Given the description of an element on the screen output the (x, y) to click on. 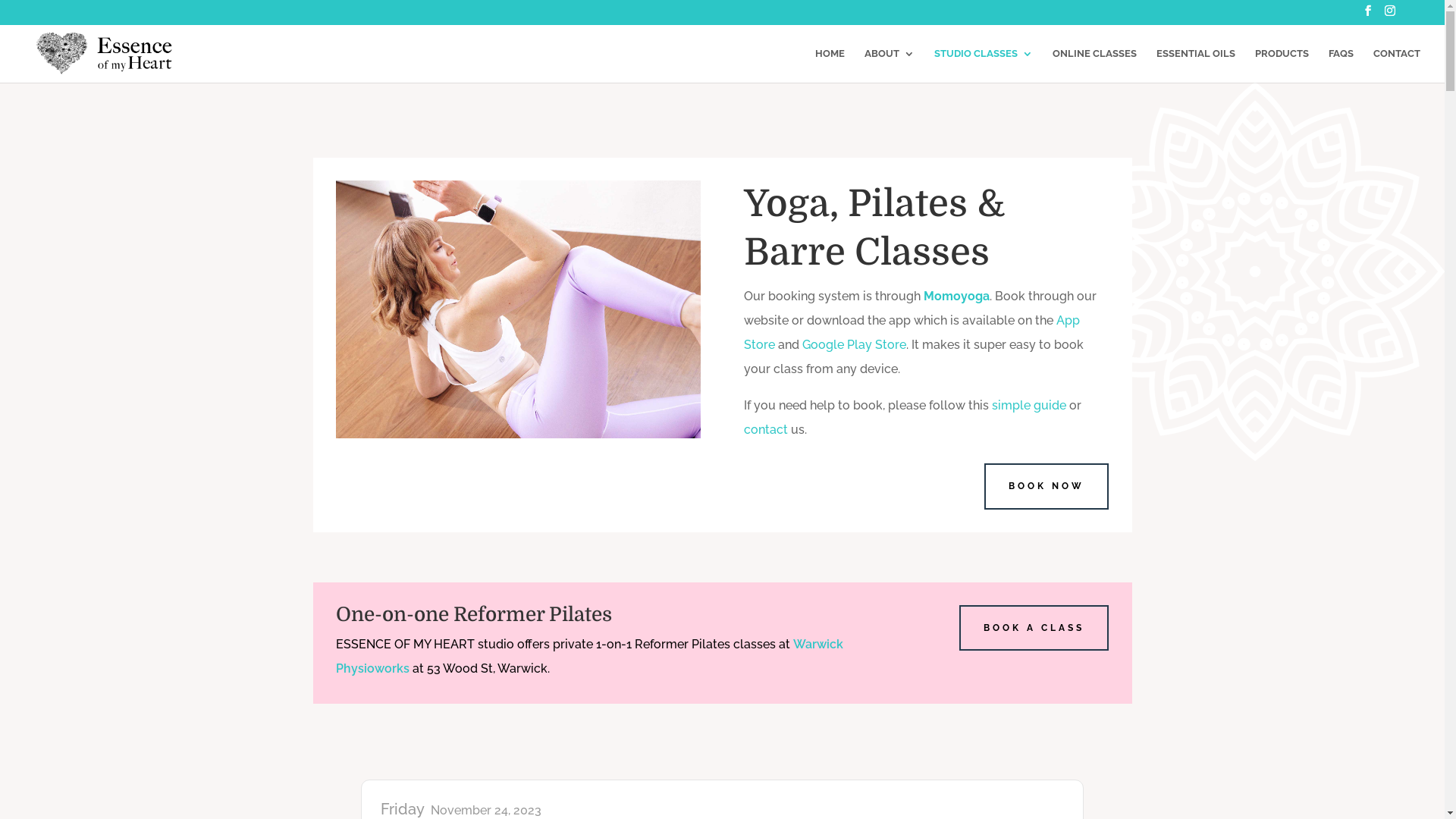
contact Element type: text (765, 429)
PRODUCTS Element type: text (1281, 65)
App Store Element type: text (911, 332)
ONLINE CLASSES Element type: text (1094, 65)
Google Play Store Element type: text (854, 344)
CONTACT Element type: text (1396, 65)
simple Element type: text (1012, 405)
guide Element type: text (1049, 405)
ESSENTIAL OILS Element type: text (1195, 65)
FAQS Element type: text (1340, 65)
BOOK A CLASS Element type: text (1033, 627)
HOME Element type: text (829, 65)
Warwick Physioworks Element type: text (588, 656)
STUDIO CLASSES Element type: text (983, 65)
BOOK NOW Element type: text (1046, 485)
Momoyoga Element type: text (956, 295)
ABOUT Element type: text (889, 65)
